Given the description of an element on the screen output the (x, y) to click on. 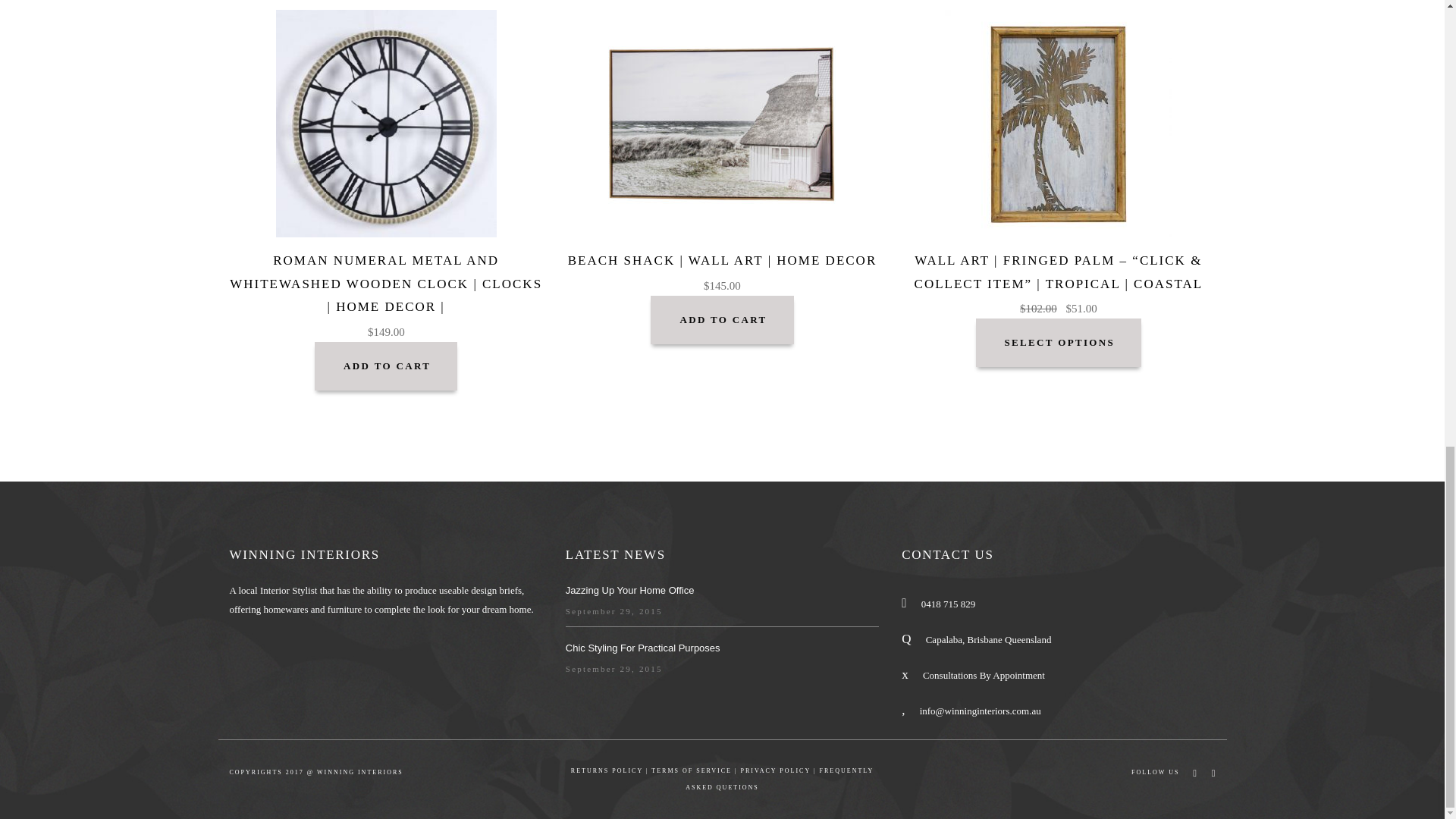
Chic Styling for practical purposes (643, 647)
Jazzing Up Your Home Office (630, 590)
